Given the description of an element on the screen output the (x, y) to click on. 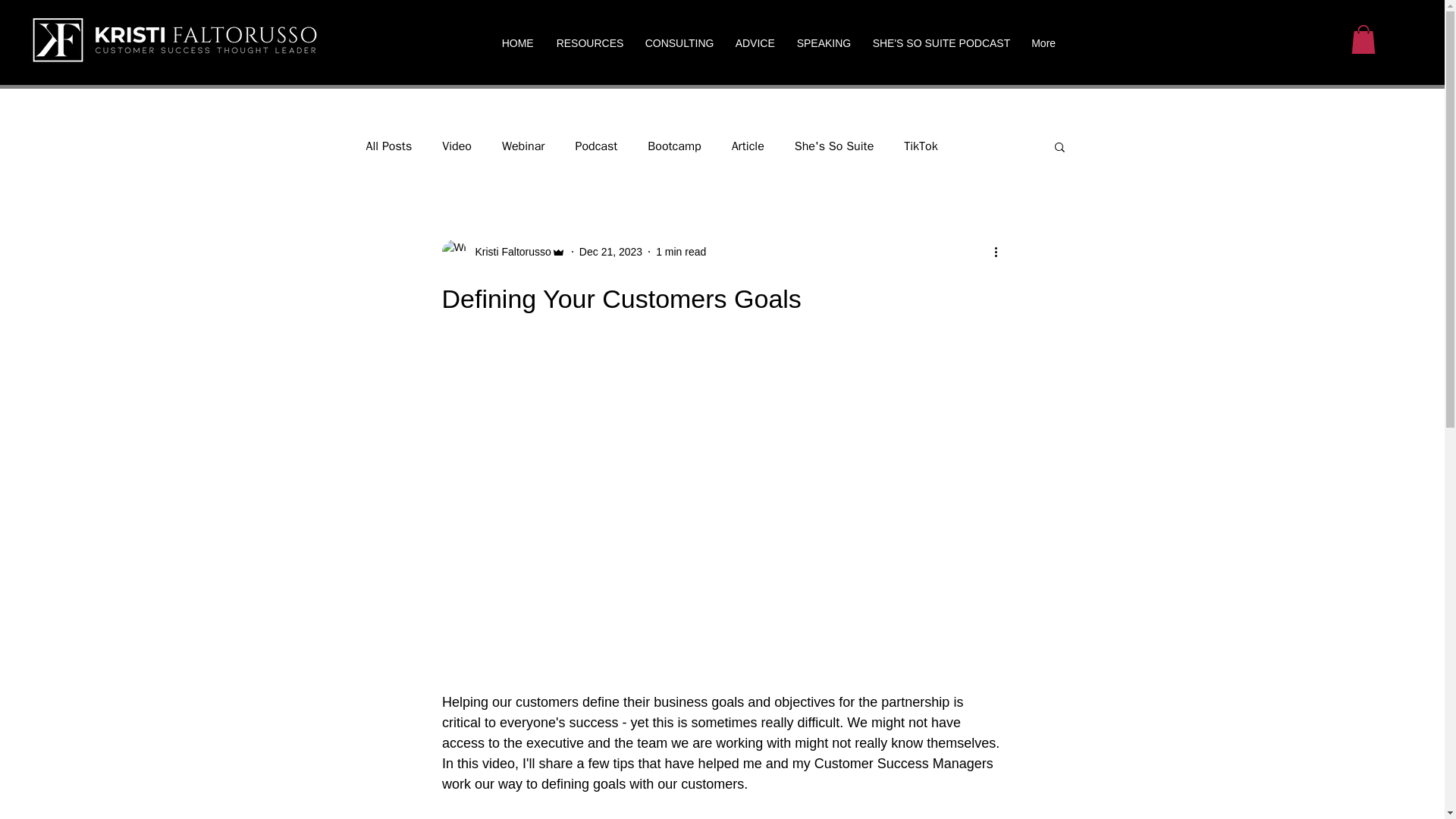
1 min read (681, 251)
All Posts (388, 146)
TikTok (920, 146)
SPEAKING (823, 43)
Article (748, 146)
CONSULTING (678, 43)
Bootcamp (673, 146)
Podcast (596, 146)
Video (456, 146)
HOME (517, 43)
Kristi Faltorusso (507, 252)
Webinar (523, 146)
RESOURCES (588, 43)
SHE'S SO SUITE PODCAST (940, 43)
Dec 21, 2023 (610, 251)
